Given the description of an element on the screen output the (x, y) to click on. 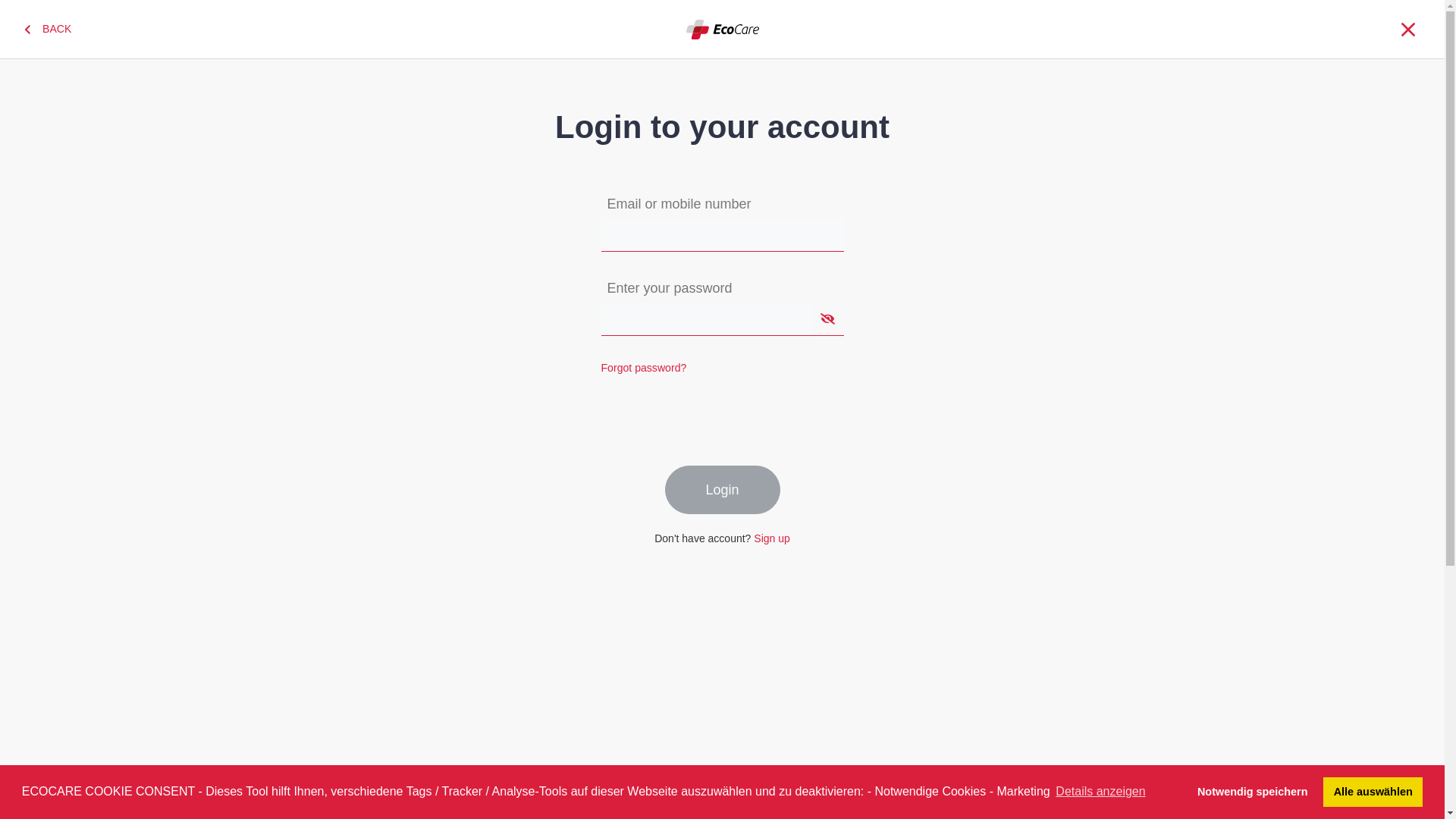
Sign up Element type: text (771, 538)
Login Element type: text (721, 489)
Forgot password? Element type: text (643, 361)
Details anzeigen Element type: text (1100, 791)
Notwendig speichern Element type: text (1251, 791)
